Given the description of an element on the screen output the (x, y) to click on. 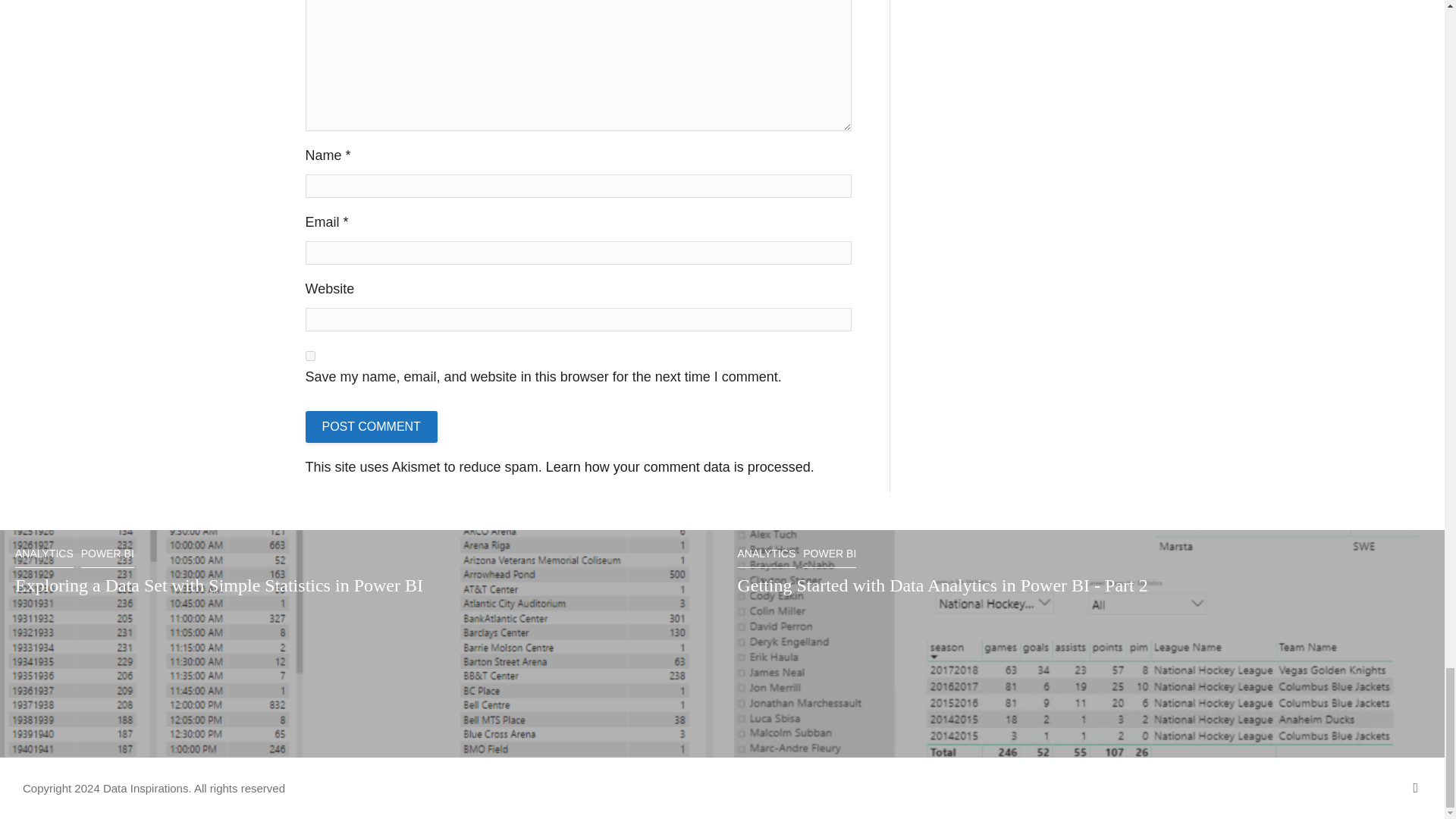
yes (309, 356)
Post Comment (370, 427)
Post Comment (370, 427)
Learn how your comment data is processed (678, 467)
